Given the description of an element on the screen output the (x, y) to click on. 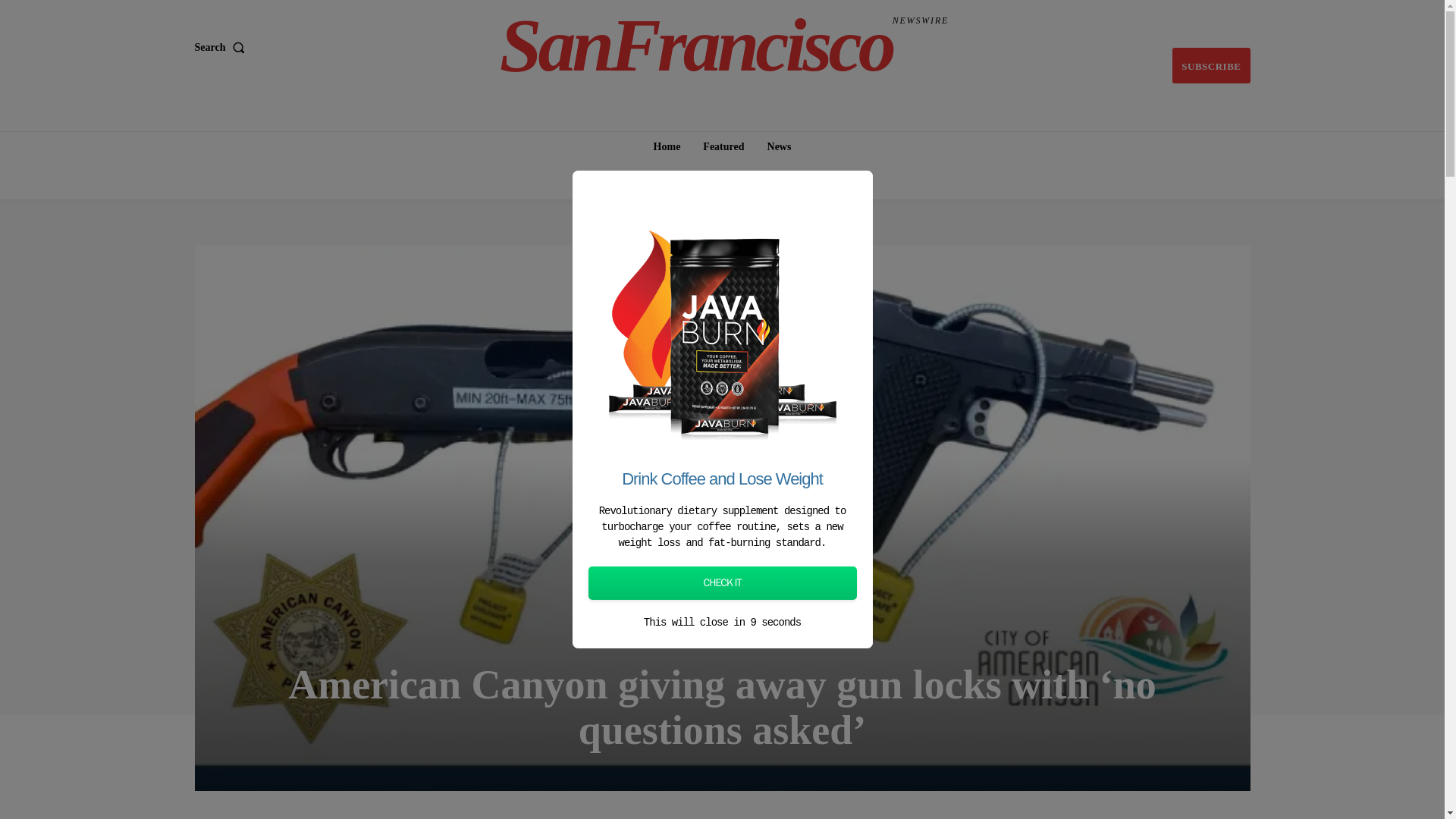
Featured (724, 45)
Search (723, 146)
SUBSCRIBE (221, 47)
NEWS (1210, 65)
Home (721, 636)
News (667, 146)
